Given the description of an element on the screen output the (x, y) to click on. 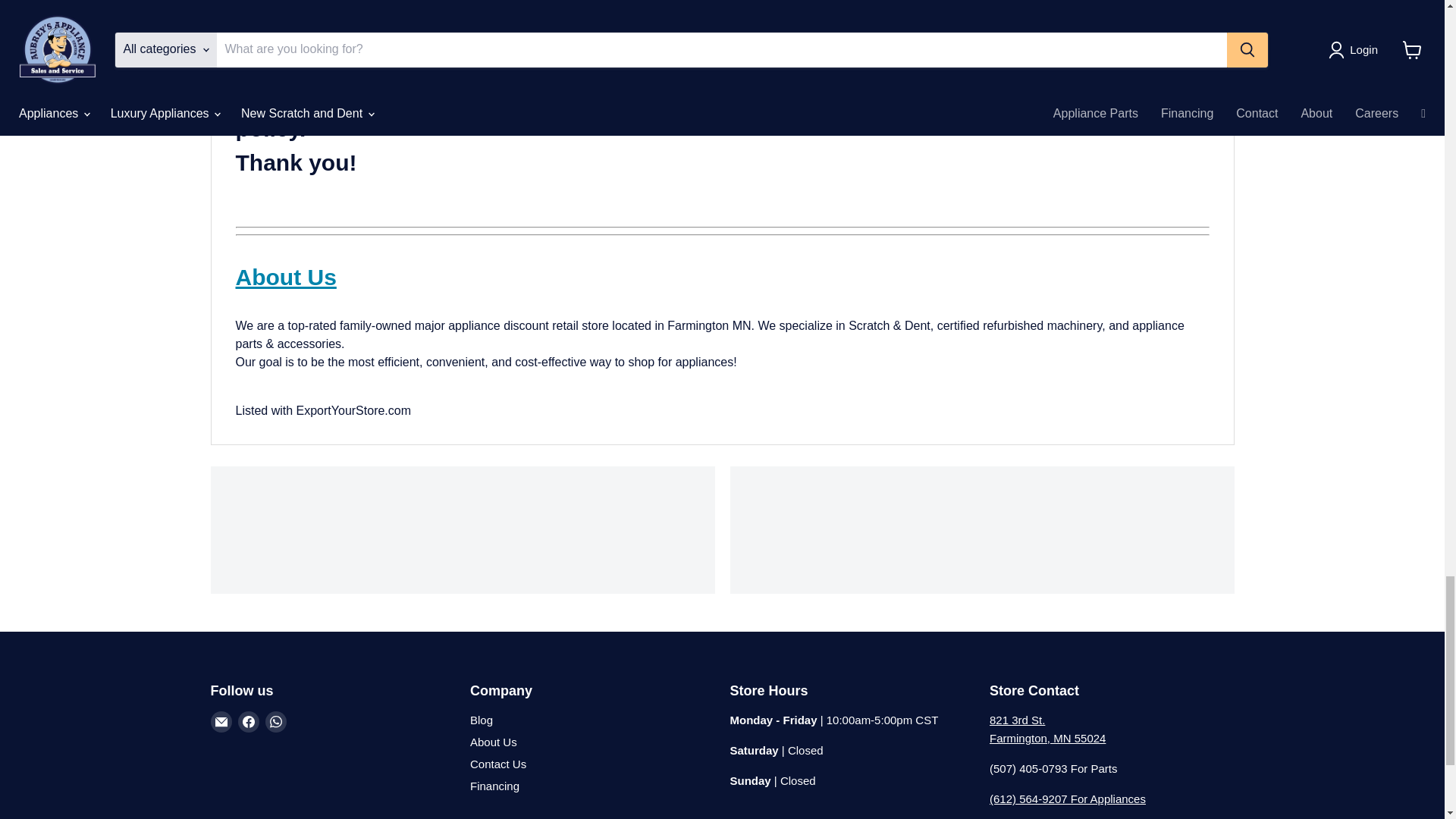
WhatsApp (275, 721)
Facebook (248, 721)
Call Aubrey's Now (1067, 798)
Get Directions (1047, 728)
Email (221, 721)
